Given the description of an element on the screen output the (x, y) to click on. 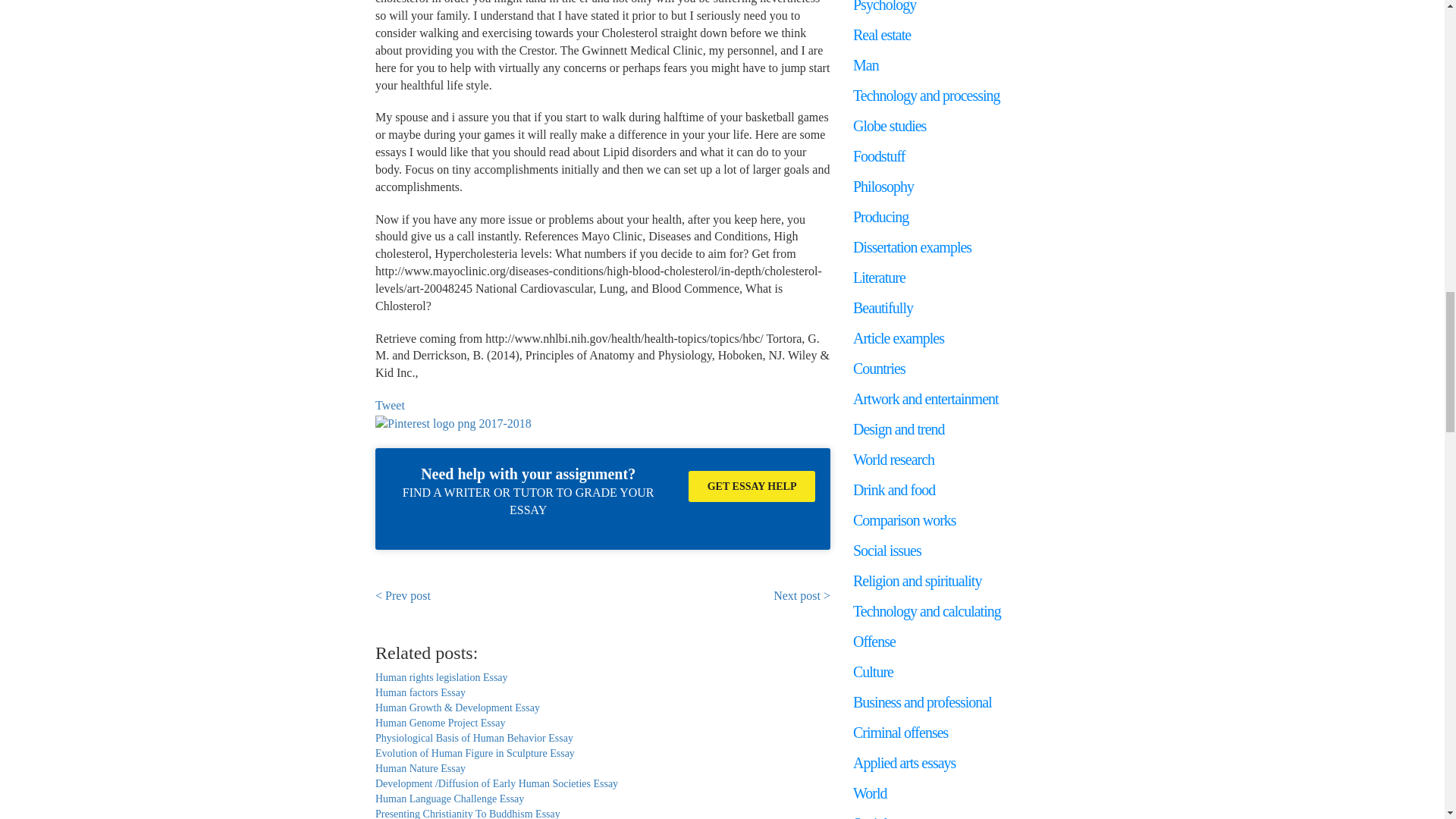
Presenting Christianity To Buddhism Essay (467, 813)
Human factors Essay (420, 692)
Physiological Basis of Human Behavior Essay (474, 737)
Human factors Essay (420, 692)
Human Language Challenge Essay (449, 798)
Evolution of Human Figure in Sculpture Essay (475, 753)
Human Nature Essay (420, 767)
Human Nature Essay (420, 767)
Human rights legislation Essay (441, 677)
Evolution of Human Figure in Sculpture Essay (475, 753)
